Given the description of an element on the screen output the (x, y) to click on. 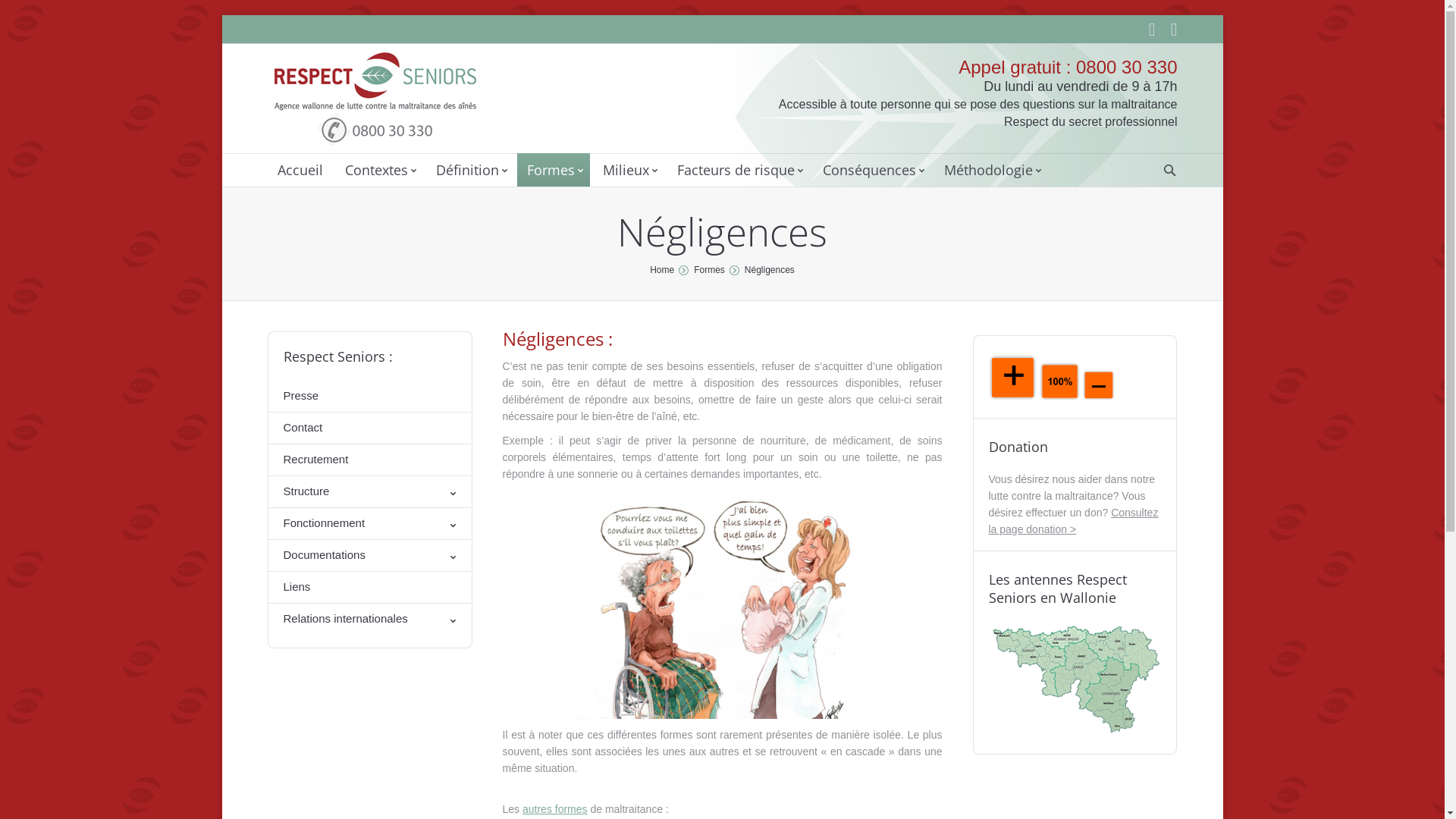
Formes Element type: text (708, 269)
Recrutement Element type: text (369, 459)
Contact Element type: text (369, 427)
Facteurs de risque Element type: text (738, 169)
Presse Element type: text (369, 395)
Relations internationales Element type: text (369, 618)
Fonctionnement Element type: text (369, 523)
Home Element type: text (661, 269)
Liens Element type: text (369, 586)
Accueil Element type: text (299, 169)
Documentations Element type: text (369, 555)
Contextes Element type: text (379, 169)
Milieux Element type: text (628, 169)
Les antennes Respect Seniors en Wallonie Element type: hover (1074, 732)
autres formes Element type: text (554, 808)
Formes Element type: text (553, 169)
Linkedin Element type: text (1144, 29)
Consultez la page donation > Element type: text (1073, 520)
Go! Element type: text (15, 12)
Facebook Element type: text (1167, 29)
Structure Element type: text (369, 491)
